Given the description of an element on the screen output the (x, y) to click on. 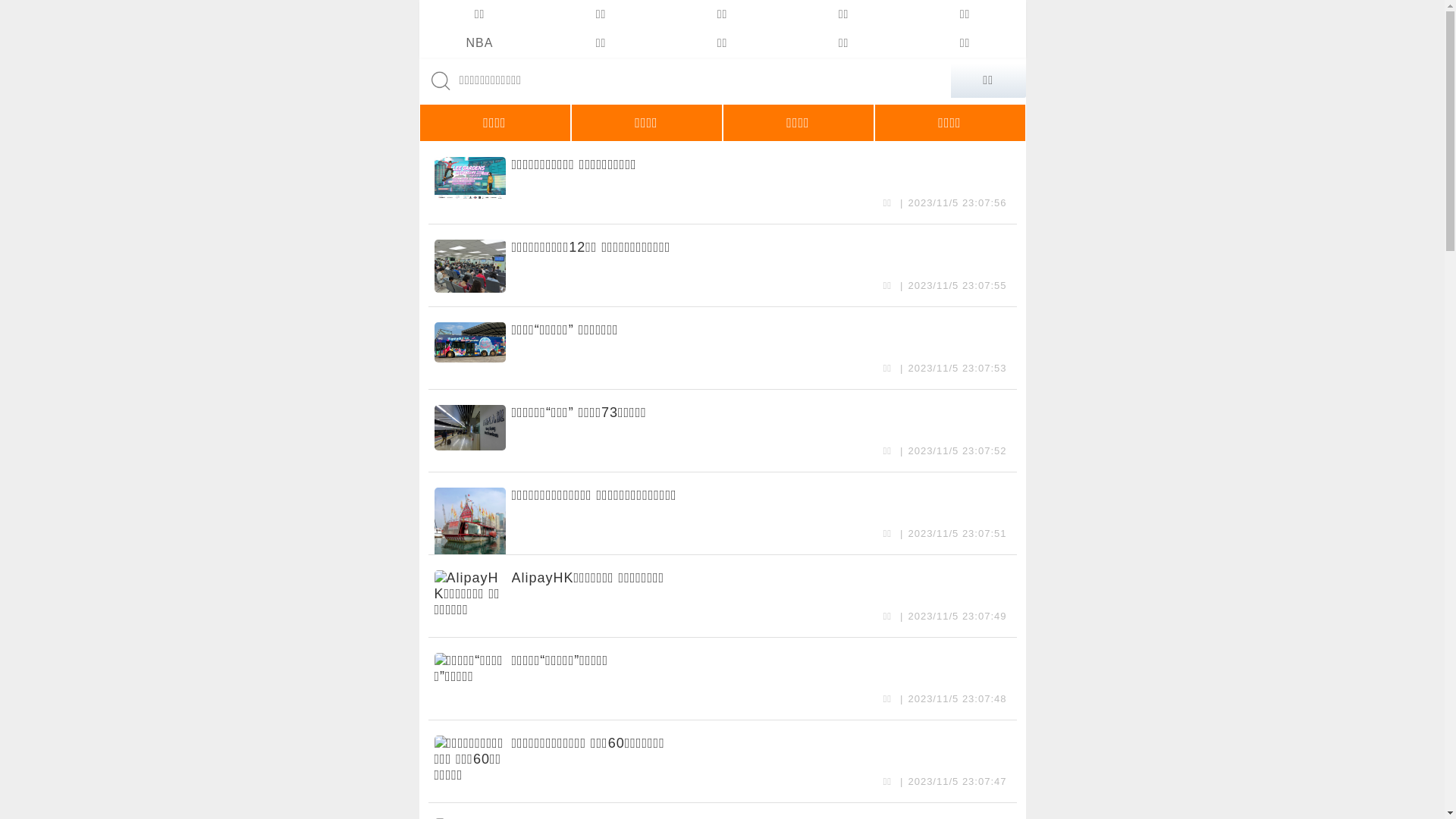
NBA Element type: text (478, 42)
